Given the description of an element on the screen output the (x, y) to click on. 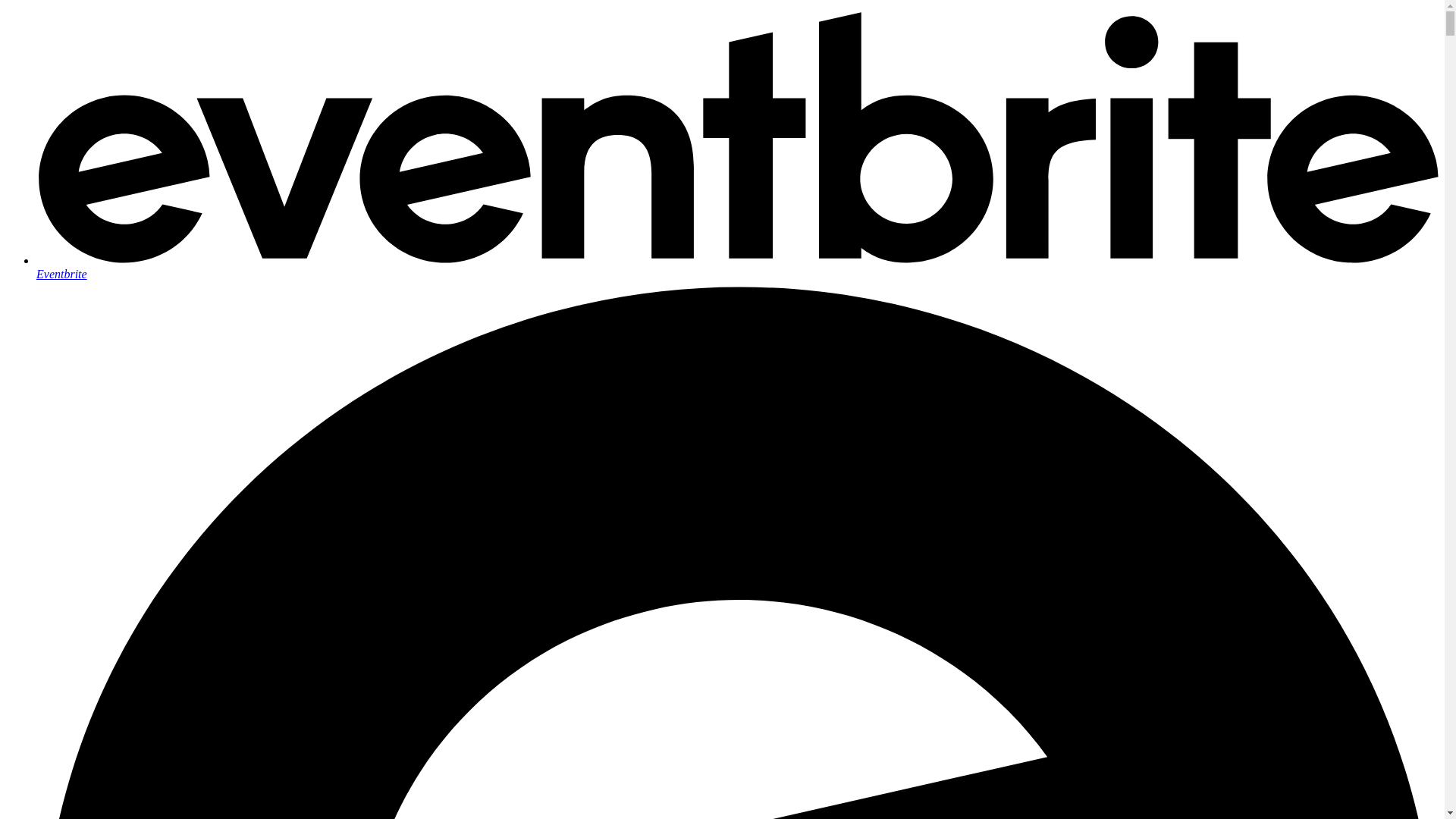
Eventbrite Element type: text (737, 267)
